Given the description of an element on the screen output the (x, y) to click on. 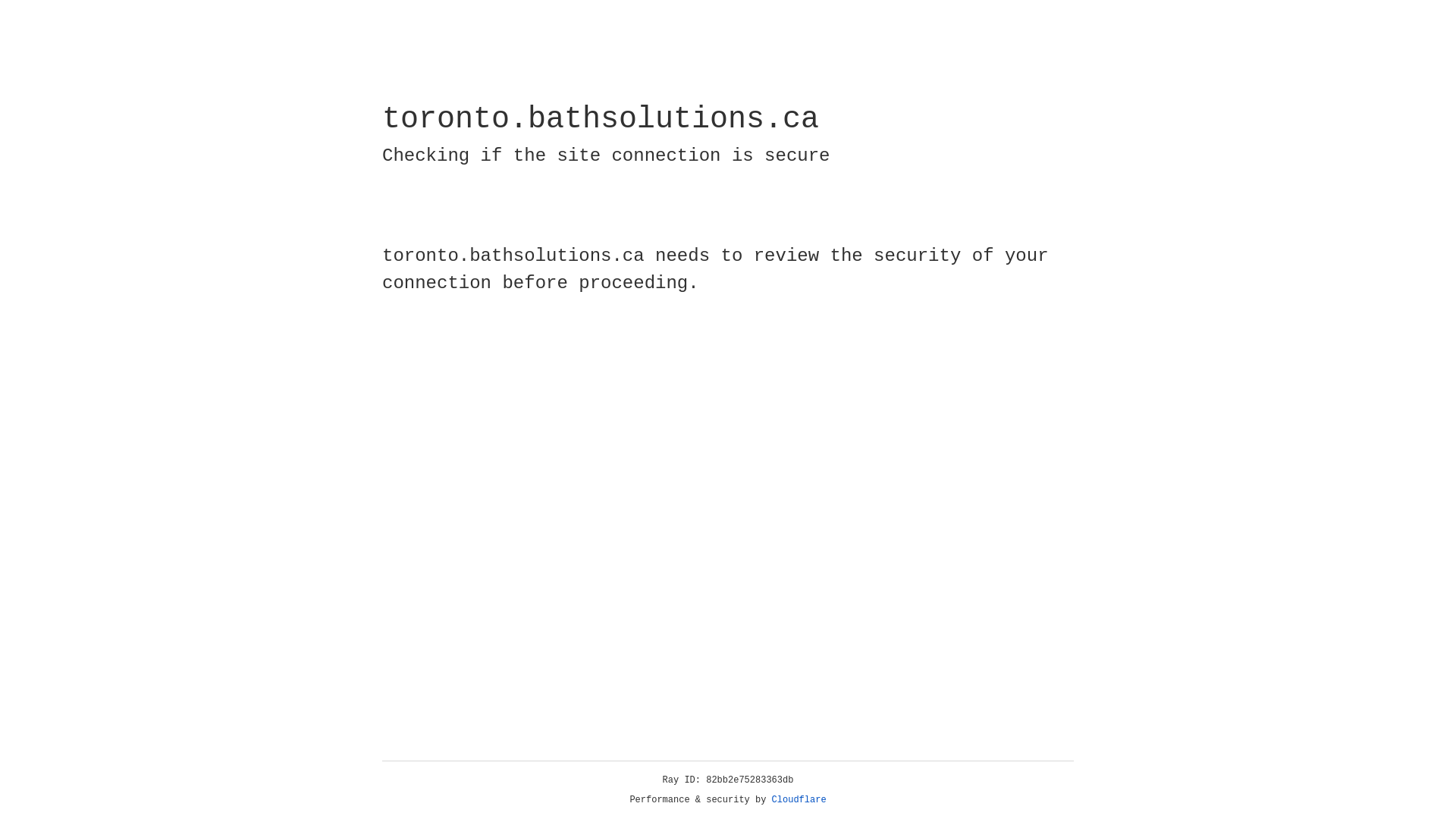
Cloudflare Element type: text (798, 799)
